Given the description of an element on the screen output the (x, y) to click on. 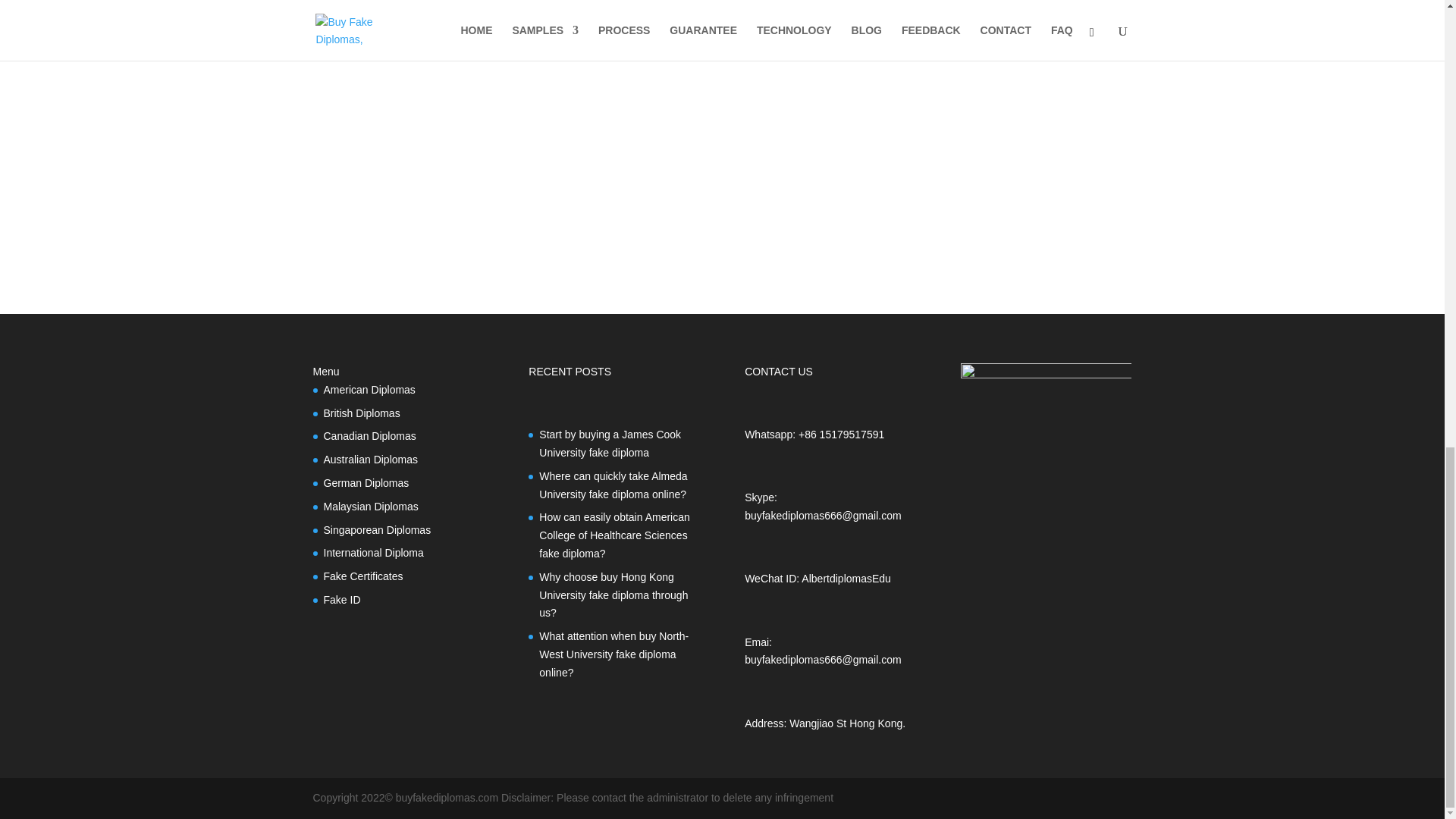
Singaporean Diplomas (376, 530)
Malaysian Diplomas (370, 506)
Fake Certificates (363, 576)
Canadian Diplomas (368, 435)
German Diplomas (366, 482)
American Diplomas (368, 389)
International Diploma (373, 552)
Fake ID (341, 599)
Australian Diplomas (370, 459)
British Diplomas (360, 413)
Start by buying a James Cook University fake diploma (609, 443)
